Given the description of an element on the screen output the (x, y) to click on. 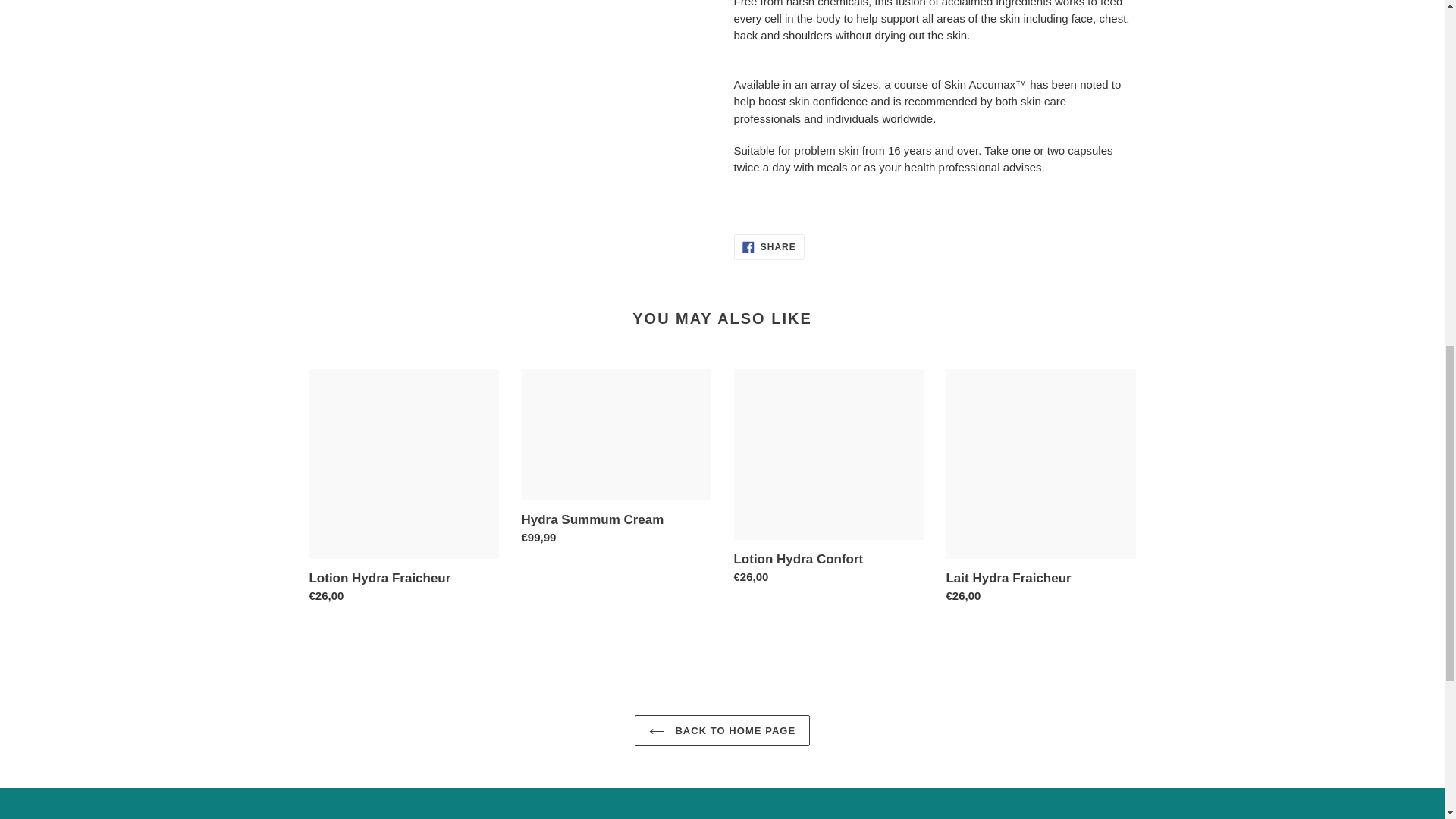
BACK TO HOME PAGE (769, 247)
Hydra Summum Cream (721, 730)
